Given the description of an element on the screen output the (x, y) to click on. 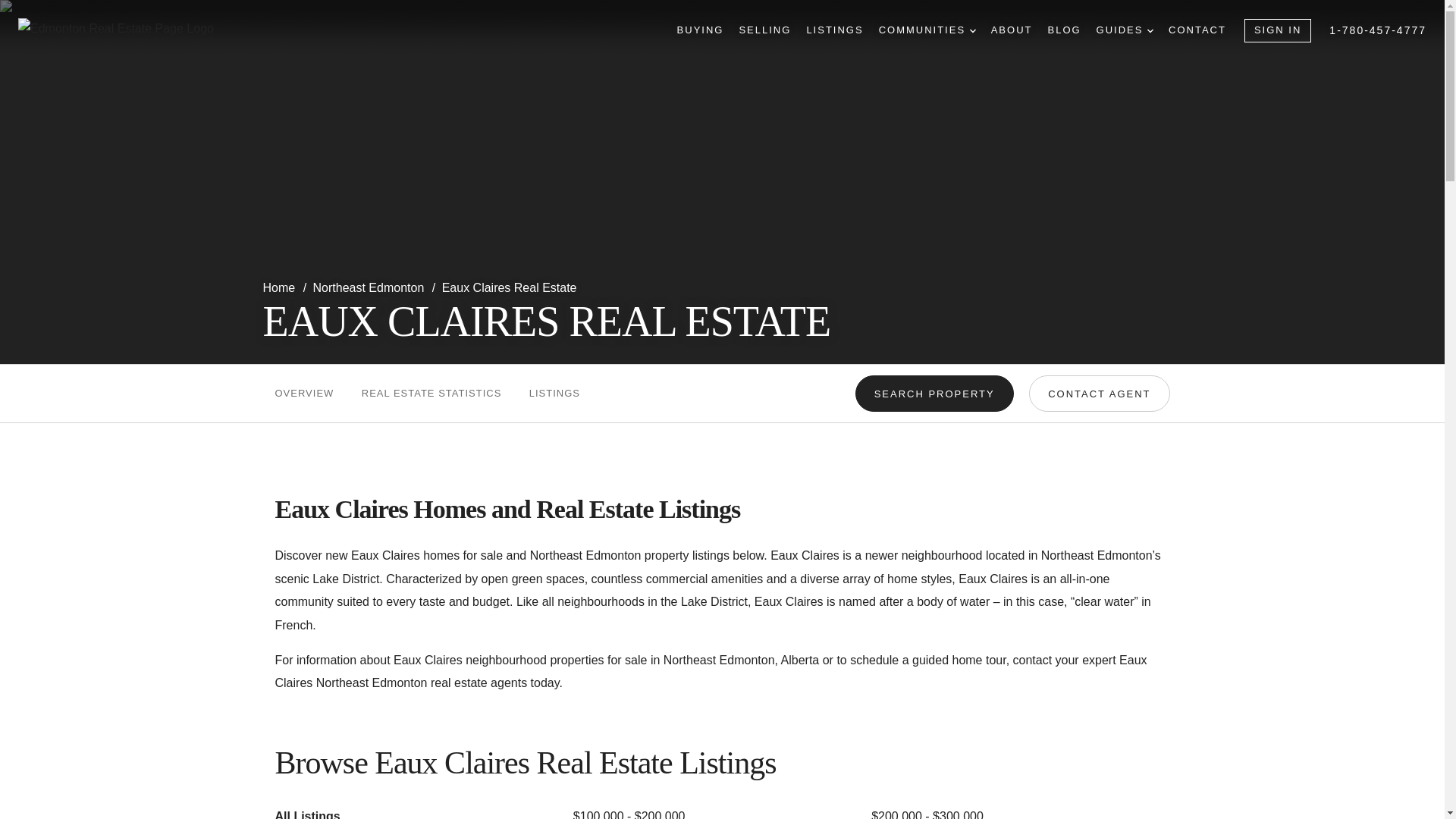
Eaux Claires Real Estate (509, 287)
GUIDES DROPDOWN ARROW (1124, 30)
DROPDOWN ARROW (1150, 30)
BLOG (1063, 30)
REAL ESTATE STATISTICS (431, 393)
1-780-457-4777 (1377, 29)
SIGN IN (1277, 30)
Home (280, 287)
CONTACT (1197, 30)
BUYING (700, 30)
DROPDOWN ARROW (972, 30)
Northeast Edmonton (370, 287)
OVERVIEW (304, 393)
ABOUT (1011, 30)
SELLING (764, 30)
